Given the description of an element on the screen output the (x, y) to click on. 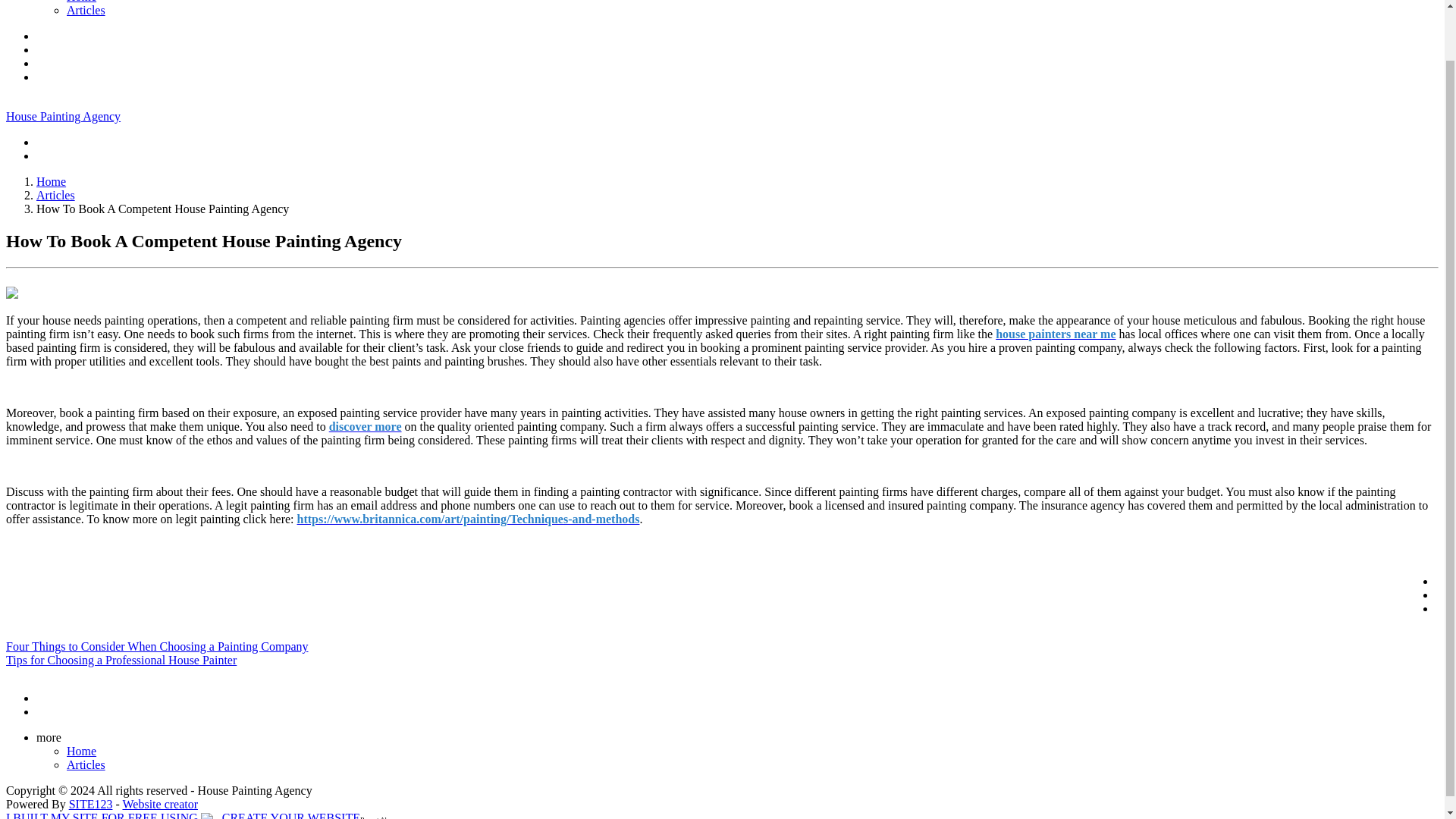
house painters near me (1055, 333)
Home (81, 1)
SITE123 (90, 803)
Four Things to Consider When Choosing a Painting Company (156, 645)
Website creator (160, 803)
Articles (85, 764)
discover more (365, 426)
Home (50, 181)
Articles (55, 195)
House Painting Agency (62, 115)
Articles (85, 10)
more   (51, 737)
Home (81, 750)
Tips for Choosing a Professional House Painter (120, 659)
